Given the description of an element on the screen output the (x, y) to click on. 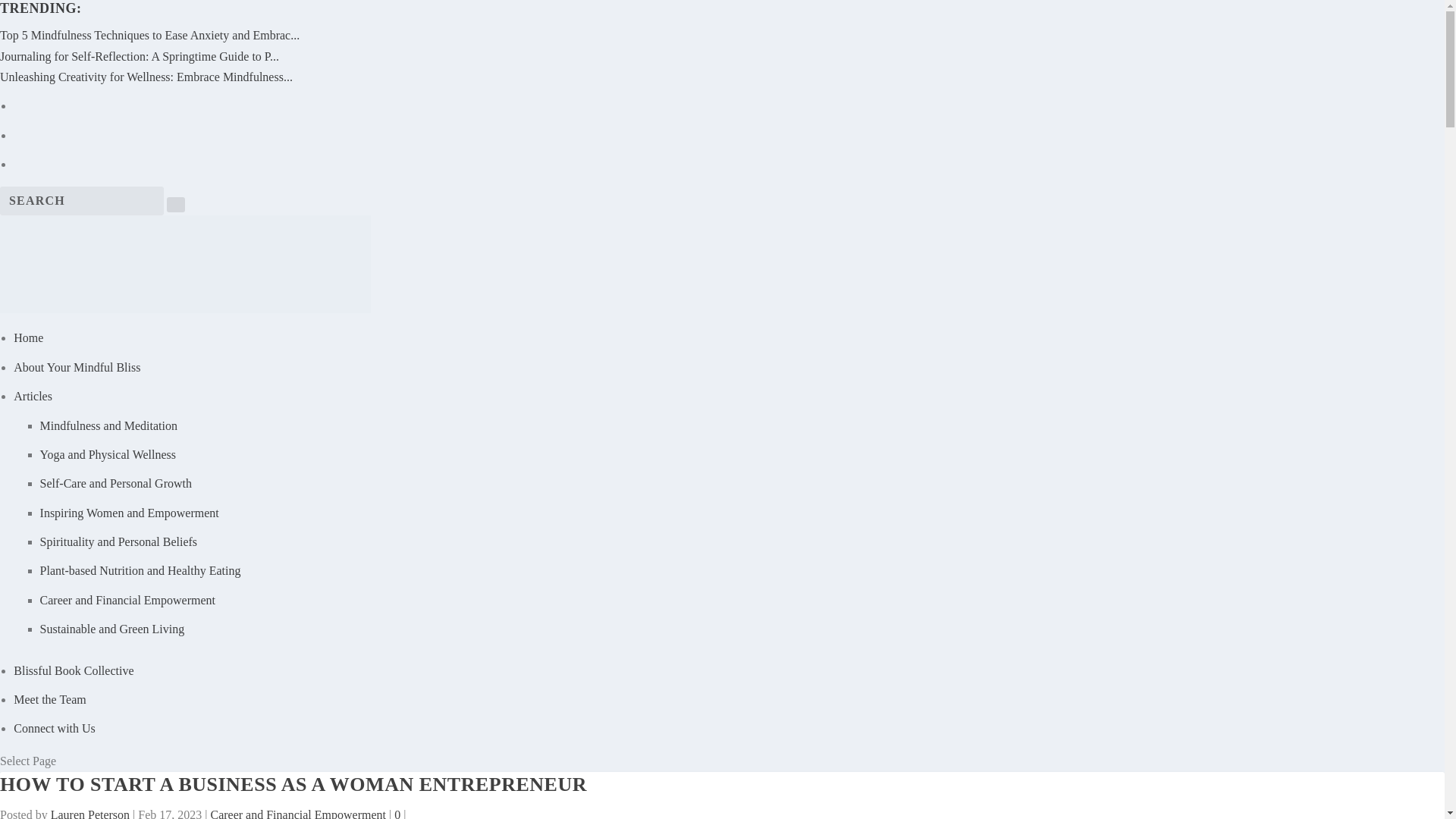
Blissful Book Collective (73, 670)
Home (28, 337)
Mindfulness and Meditation (108, 425)
Sustainable and Green Living (112, 628)
Yoga and Physical Wellness (108, 454)
Self-Care and Personal Growth (116, 482)
Career and Financial Empowerment (127, 599)
Plant-based Nutrition and Healthy Eating (140, 570)
Lauren Peterson (89, 813)
Unleashing Creativity for Wellness: Embrace Mindfulness... (146, 76)
